Given the description of an element on the screen output the (x, y) to click on. 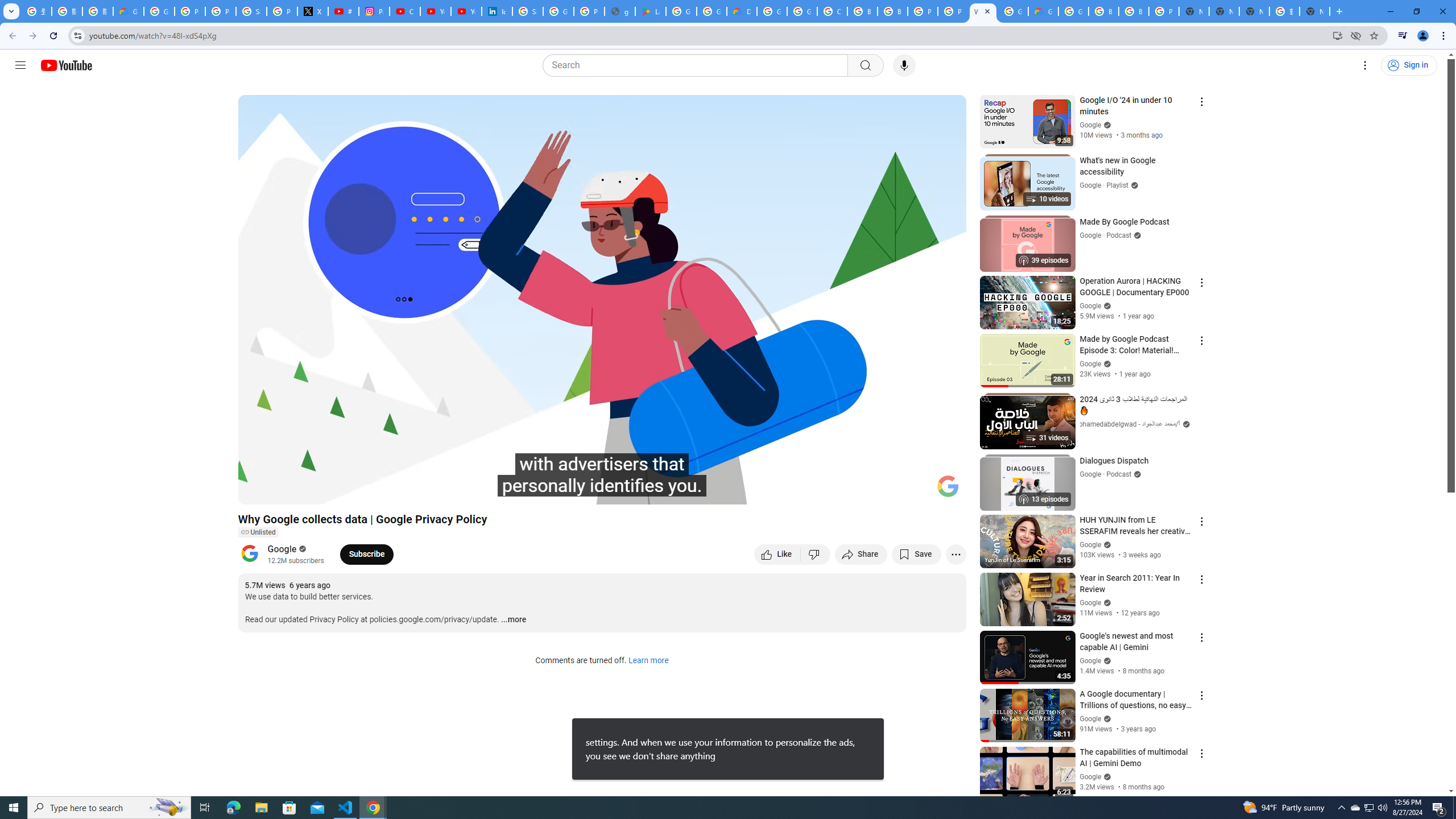
Google Cloud Platform (1072, 11)
Action menu (1200, 753)
Full screen keyboard shortcut f (945, 490)
Identity verification via Persona | LinkedIn Help (496, 11)
Pause (k) (257, 490)
Settings (863, 490)
Share (861, 554)
Google Cloud Estimate Summary (1042, 11)
